Given the description of an element on the screen output the (x, y) to click on. 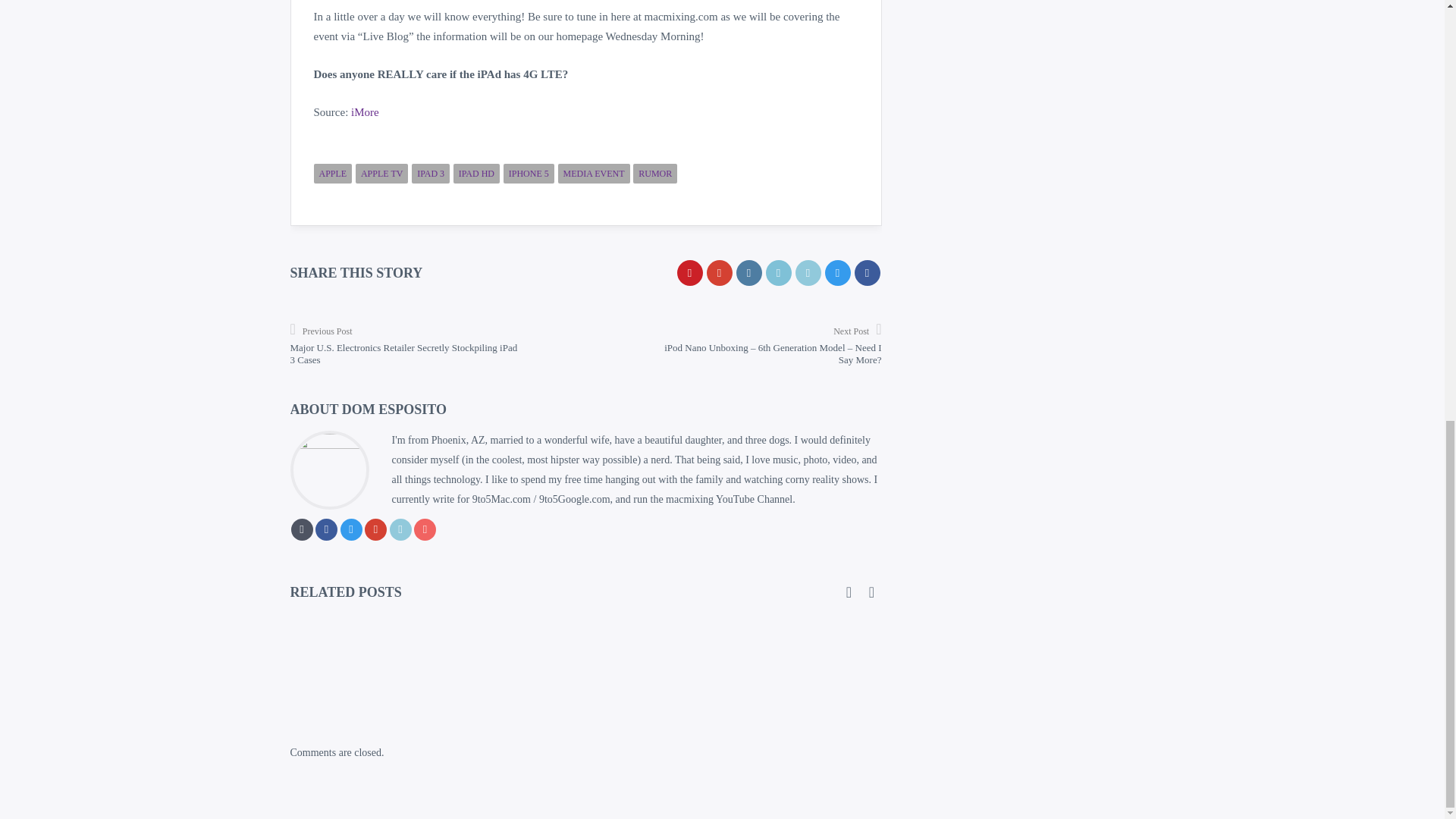
linkedin (807, 272)
reddit (778, 272)
tumblr (748, 272)
twitter (837, 272)
google (719, 272)
facebook (866, 272)
pinterest (689, 272)
